Given the description of an element on the screen output the (x, y) to click on. 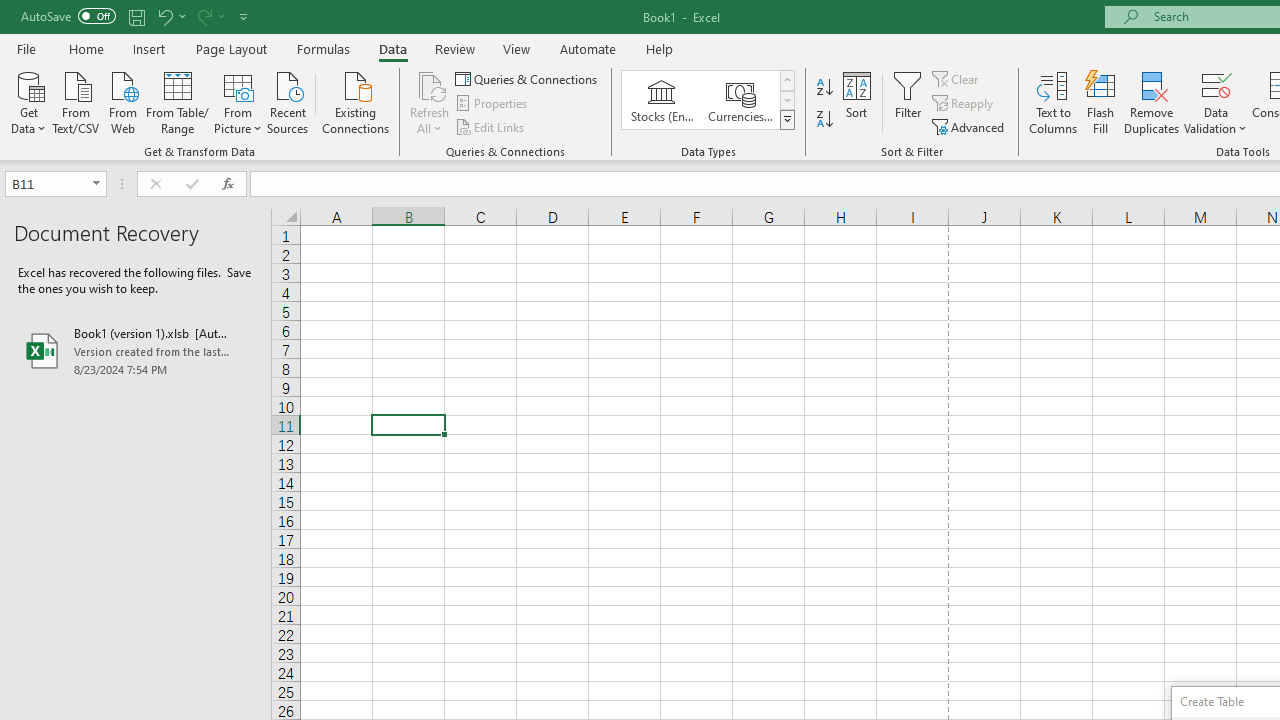
Formulas (323, 48)
Automate (588, 48)
Insert (149, 48)
Properties (492, 103)
Text to Columns... (1053, 102)
Reapply (964, 103)
From Picture (238, 101)
Data Validation... (1215, 102)
Help (660, 48)
Book1 (version 1).xlsb  [AutoRecovered] (136, 350)
AutoSave (68, 16)
Get Data (28, 101)
Redo (209, 15)
Sort... (856, 102)
Name Box (56, 183)
